Given the description of an element on the screen output the (x, y) to click on. 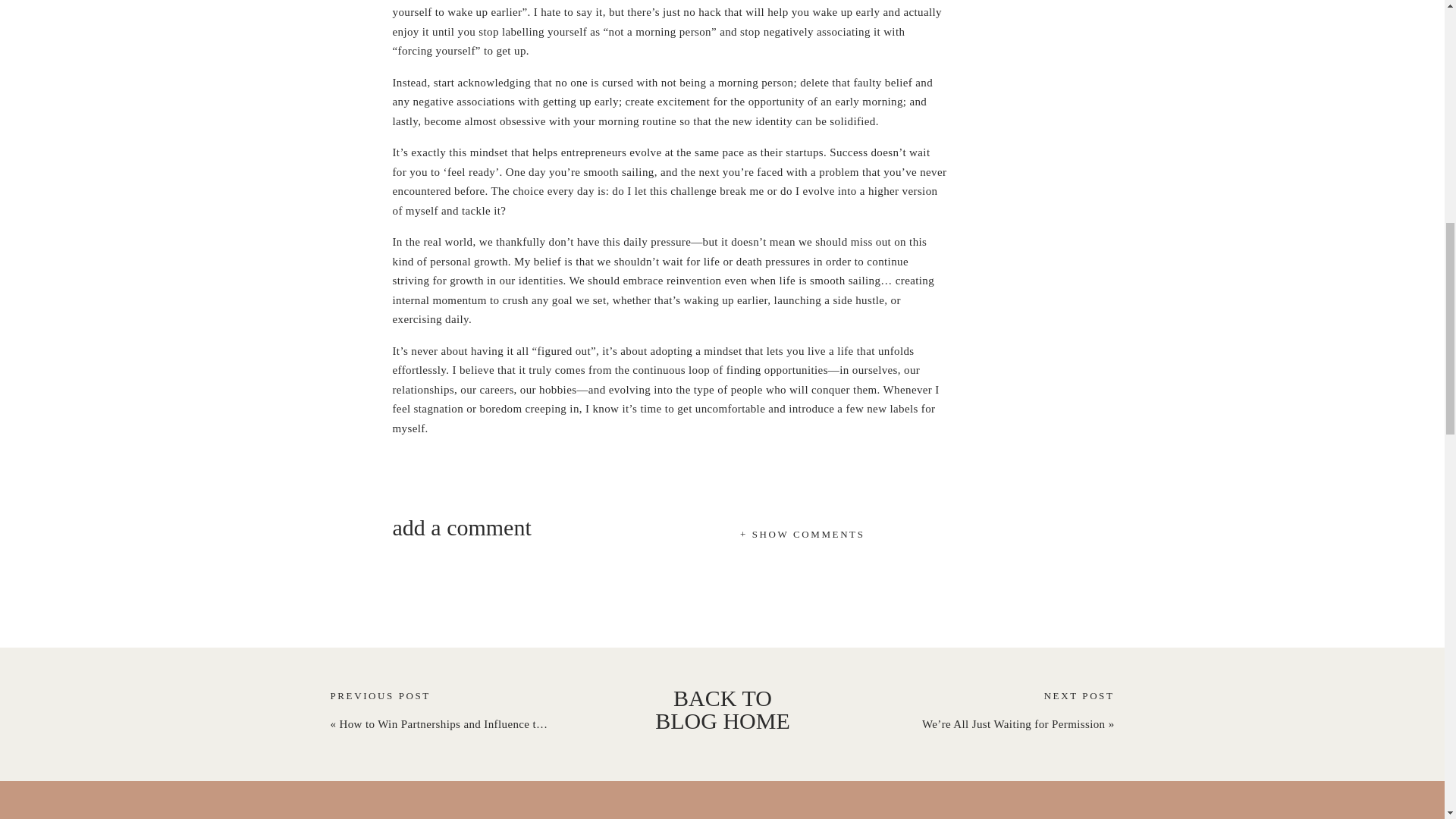
BACK TO BLOG HOME (722, 711)
How to Win Partnerships and Influence the Masses (462, 724)
